Given the description of an element on the screen output the (x, y) to click on. 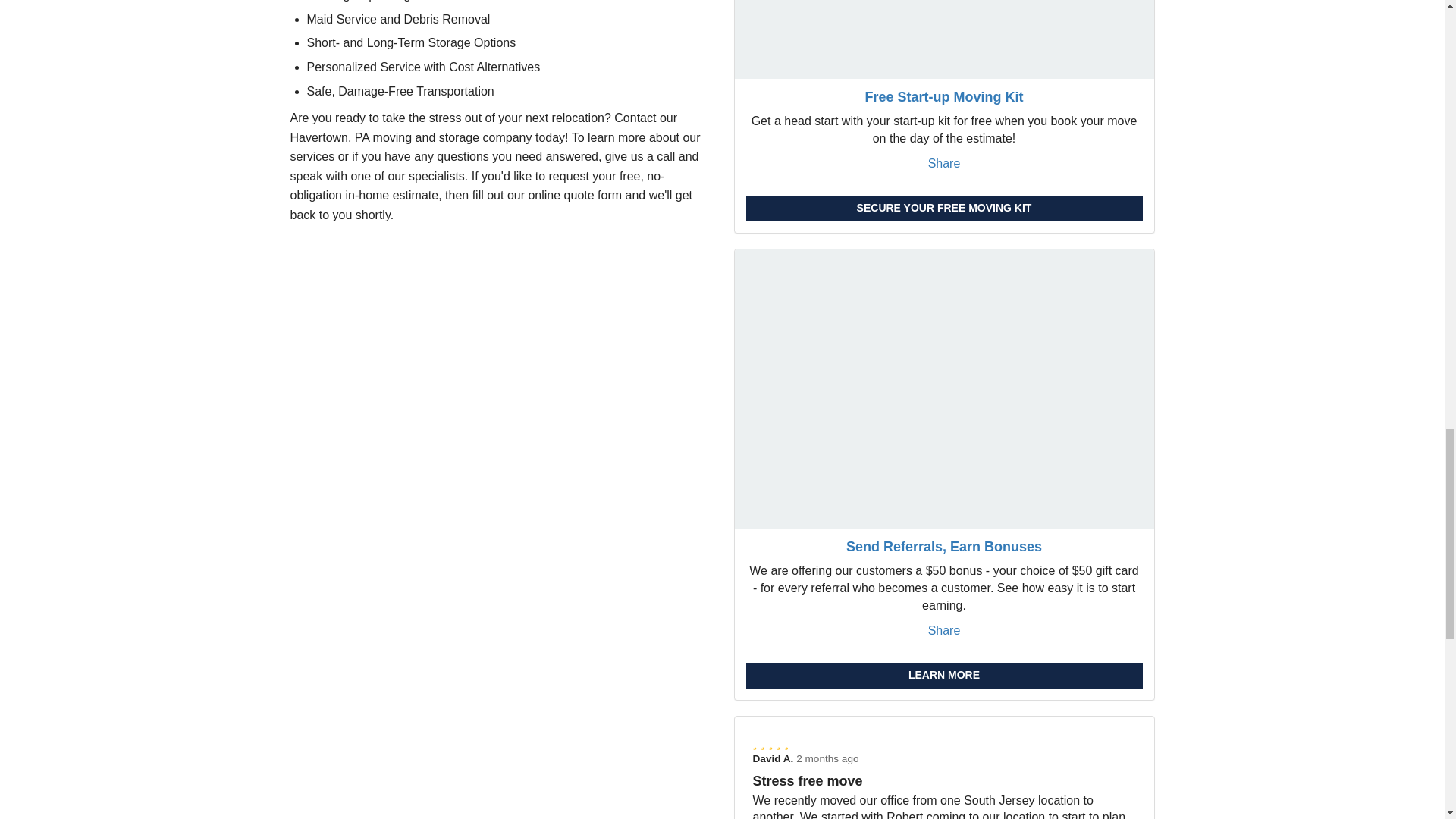
5 Stars (943, 743)
